Given the description of an element on the screen output the (x, y) to click on. 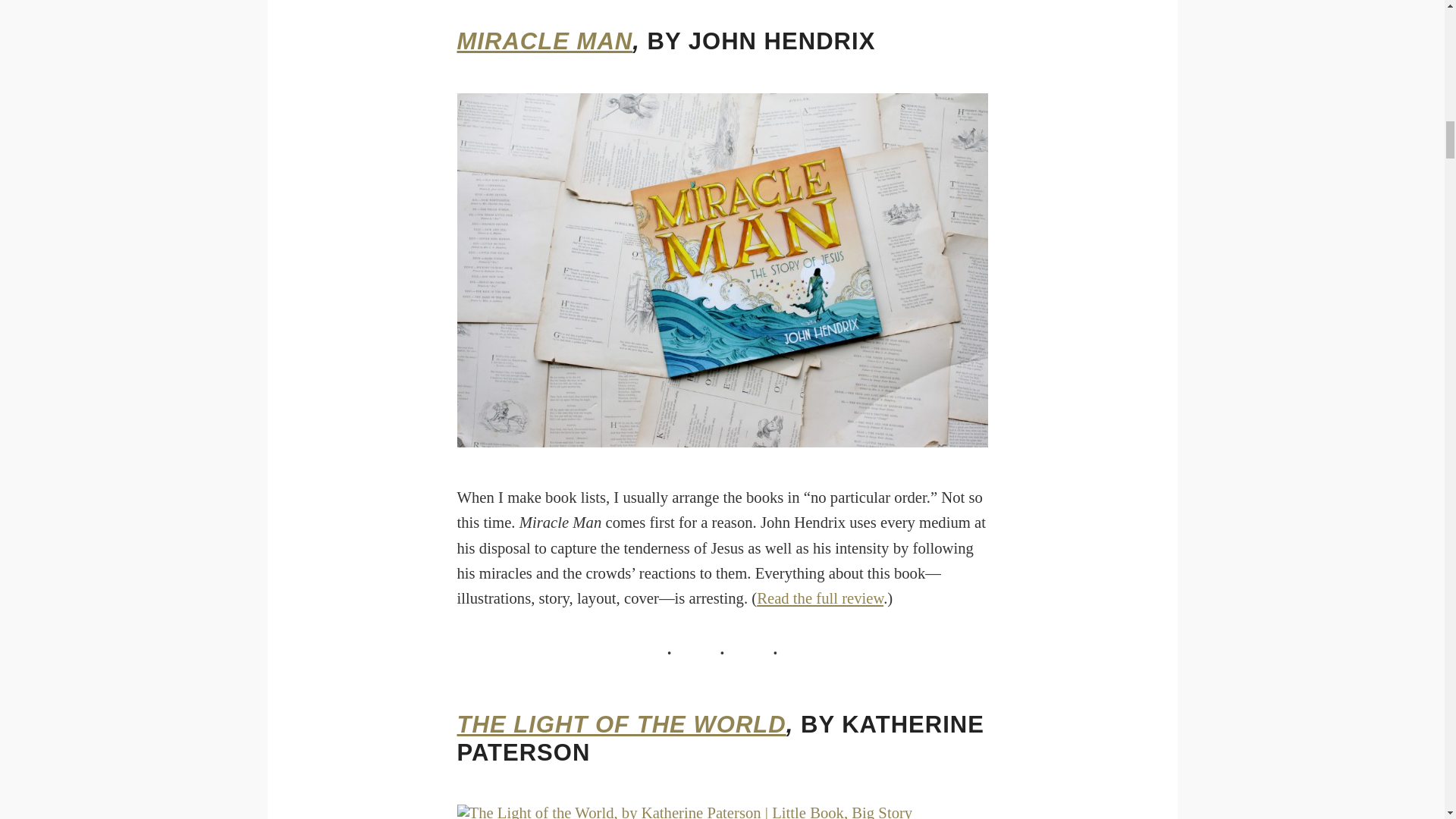
MIRACLE MAN (544, 40)
Read the full review (820, 597)
THE LIGHT OF THE WORLD (621, 724)
